Given the description of an element on the screen output the (x, y) to click on. 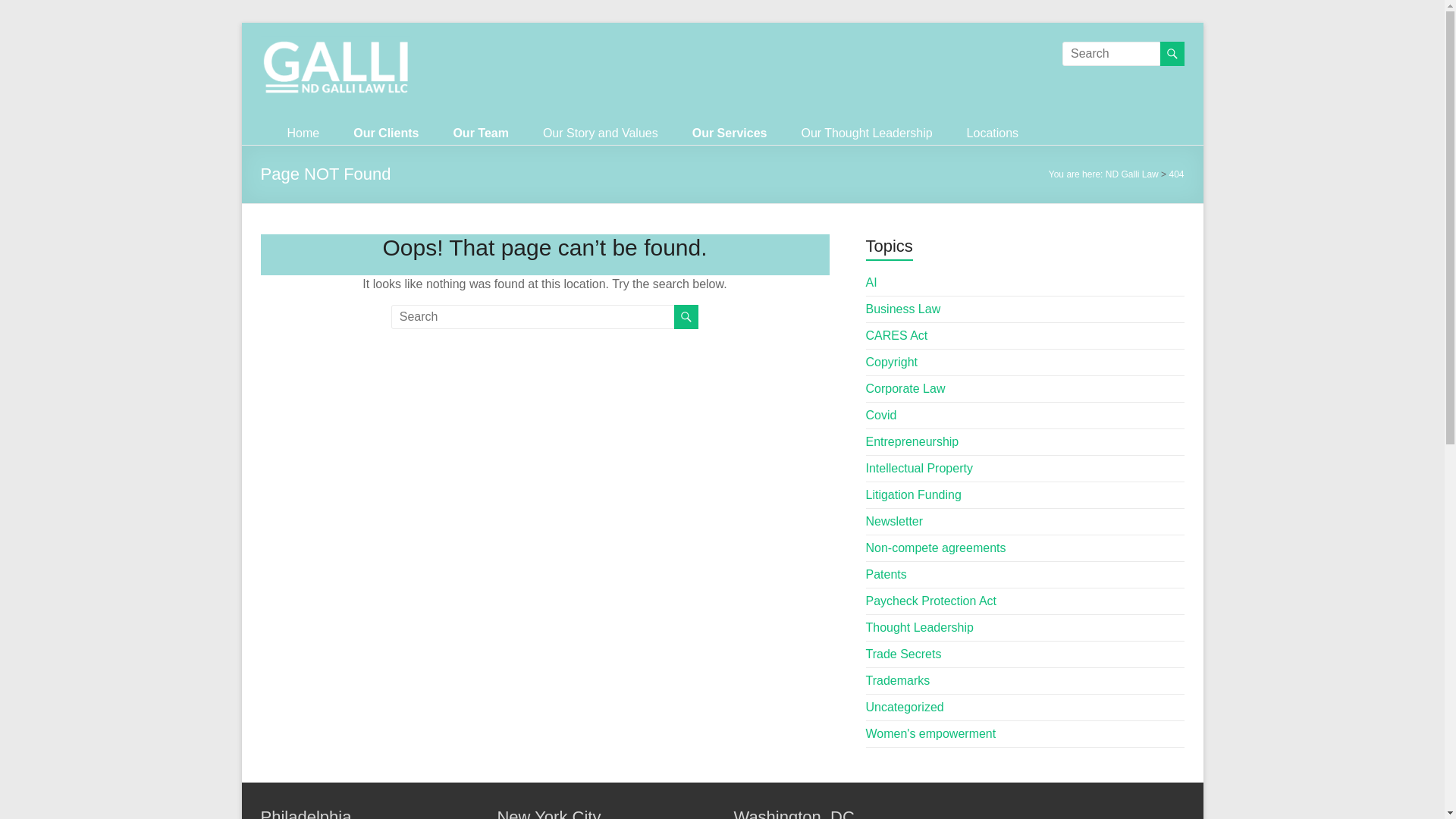
Entrepreneurship (912, 440)
ND Galli Law (286, 82)
Home (302, 133)
Business Law (903, 308)
CARES Act (897, 335)
Litigation Funding (913, 494)
Our Story and Values (600, 133)
ND Galli Law (1131, 173)
Paycheck Protection Act (931, 600)
Locations (992, 133)
Patents (886, 574)
ND Galli Law (286, 82)
Thought Leadership (920, 626)
Newsletter (894, 521)
Copyright (891, 361)
